Given the description of an element on the screen output the (x, y) to click on. 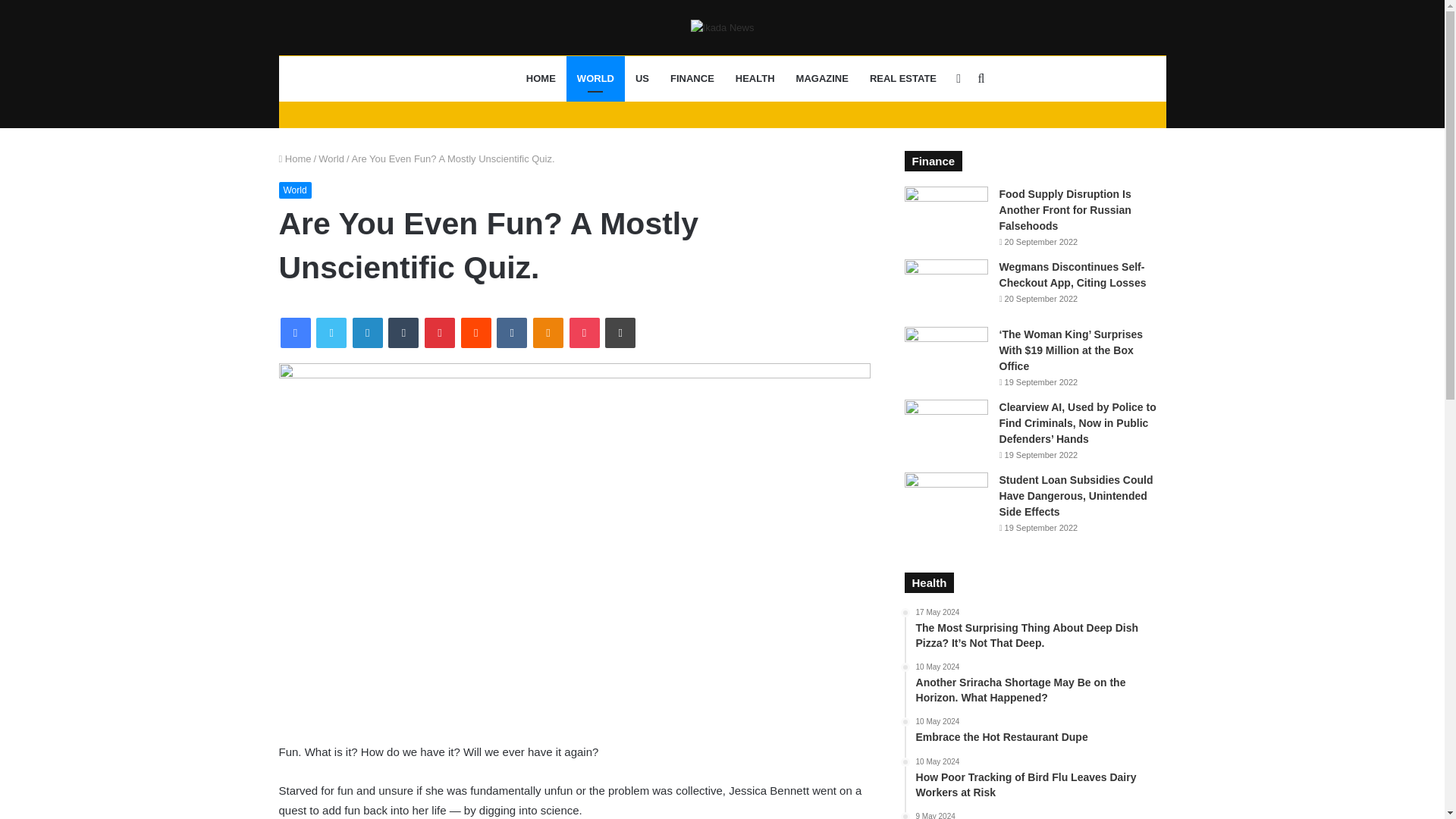
Pocket (583, 332)
Twitter (330, 332)
MAGAZINE (822, 78)
Reddit (476, 332)
Facebook (296, 332)
Pinterest (439, 332)
Facebook (296, 332)
Ikada News (722, 27)
Pocket (583, 332)
Print (619, 332)
VKontakte (511, 332)
Pinterest (439, 332)
Twitter (330, 332)
World (295, 190)
HEALTH (755, 78)
